Given the description of an element on the screen output the (x, y) to click on. 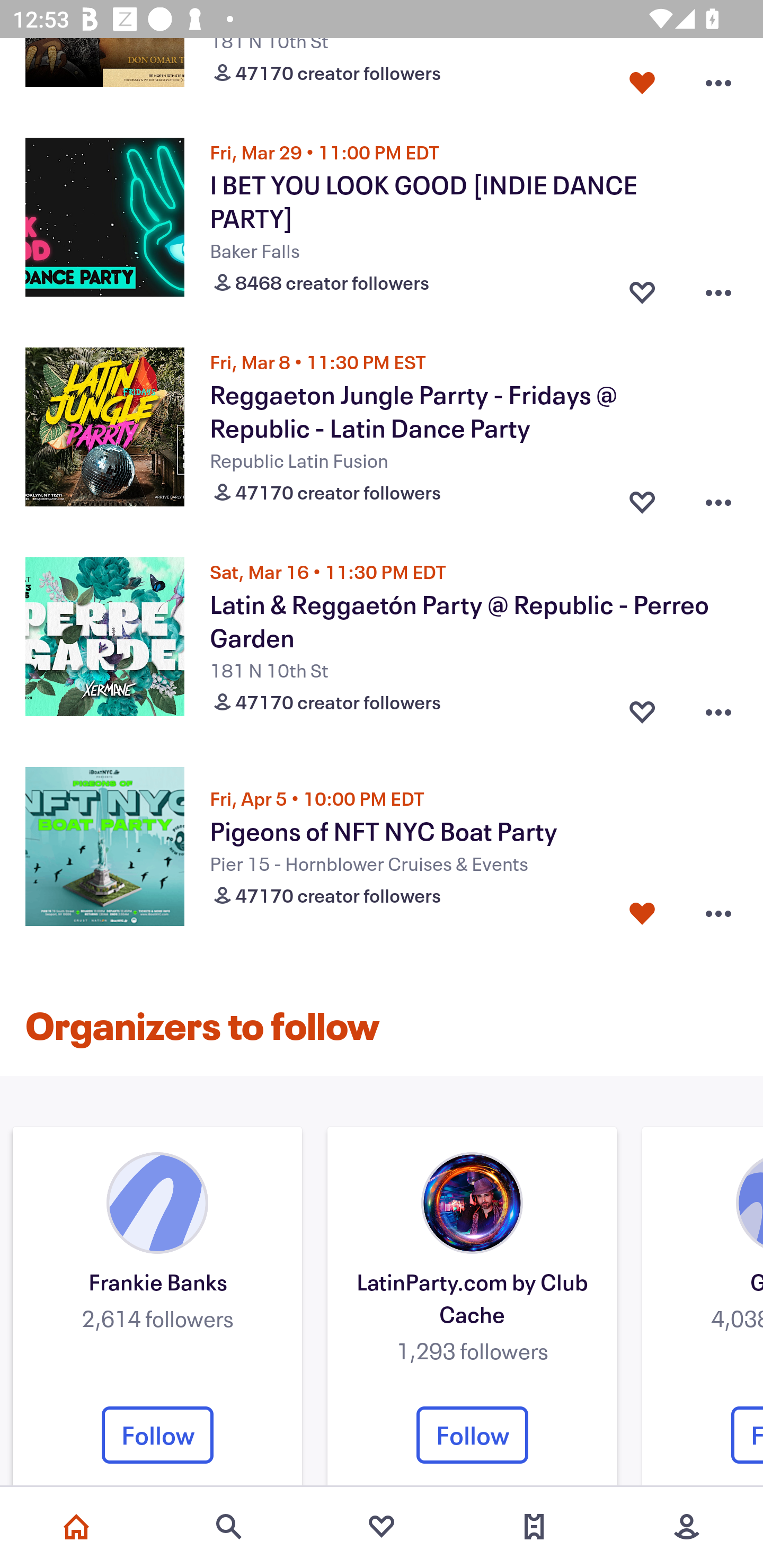
Favorite button (642, 78)
Overflow menu button (718, 78)
Favorite button (642, 287)
Overflow menu button (718, 287)
Favorite button (642, 497)
Overflow menu button (718, 497)
Favorite button (642, 707)
Overflow menu button (718, 707)
Favorite button (642, 912)
Overflow menu button (718, 912)
Follow Organizer's follow button (157, 1434)
Follow Organizer's follow button (471, 1434)
Home (76, 1526)
Search events (228, 1526)
Favorites (381, 1526)
Tickets (533, 1526)
More (686, 1526)
